Given the description of an element on the screen output the (x, y) to click on. 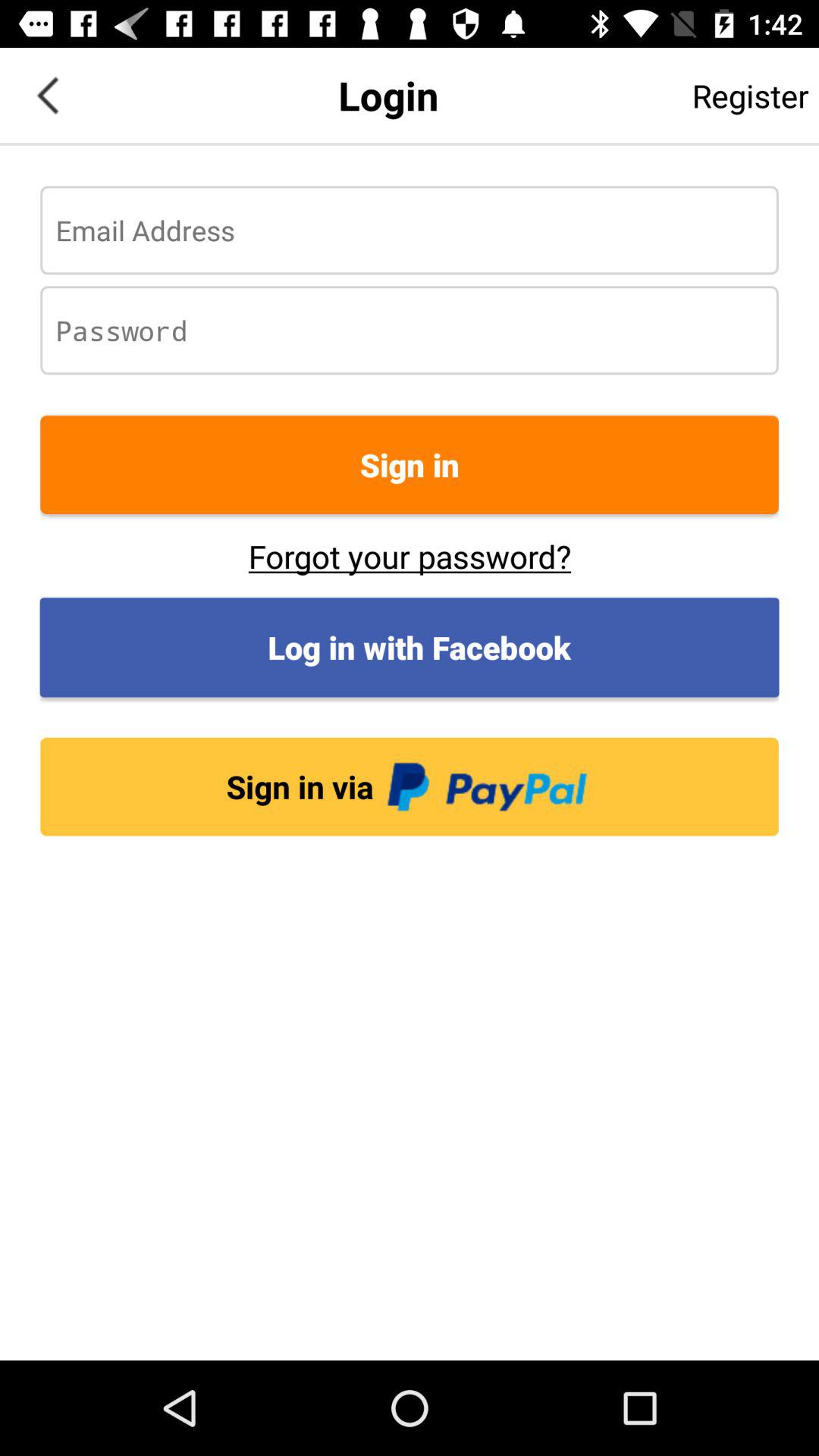
jump until log in with button (409, 647)
